Given the description of an element on the screen output the (x, y) to click on. 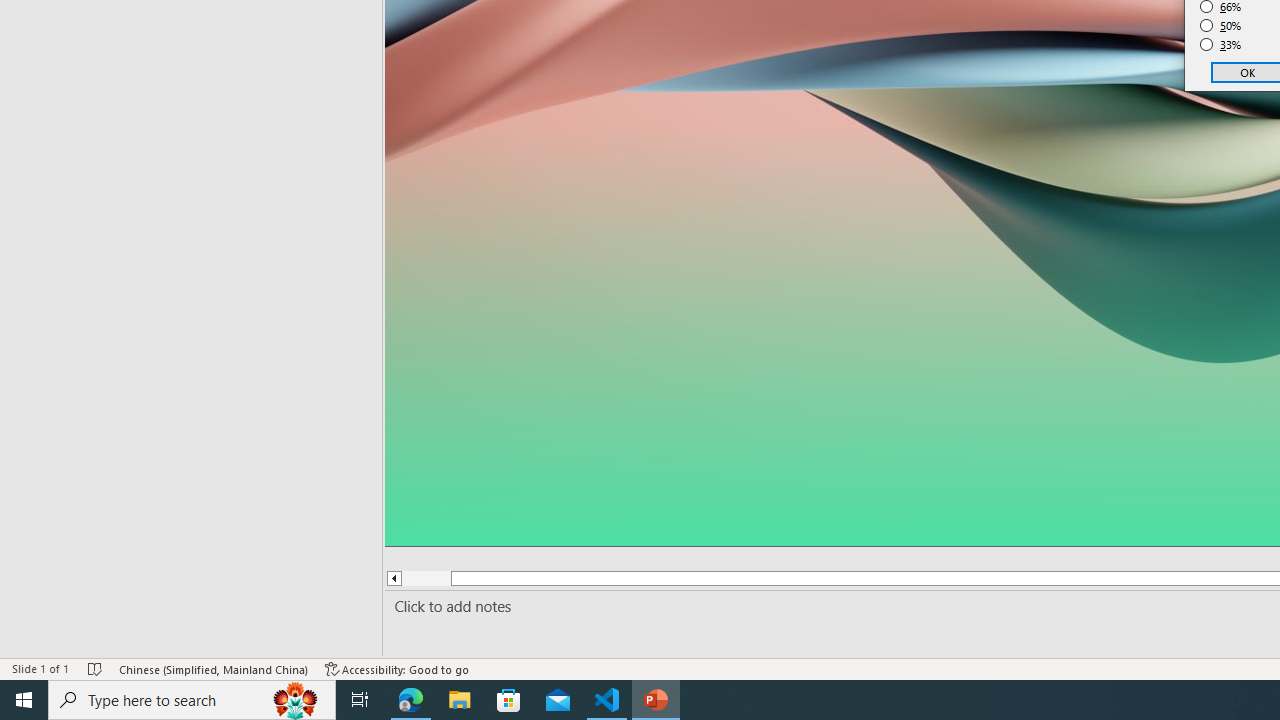
33% (1221, 44)
